Given the description of an element on the screen output the (x, y) to click on. 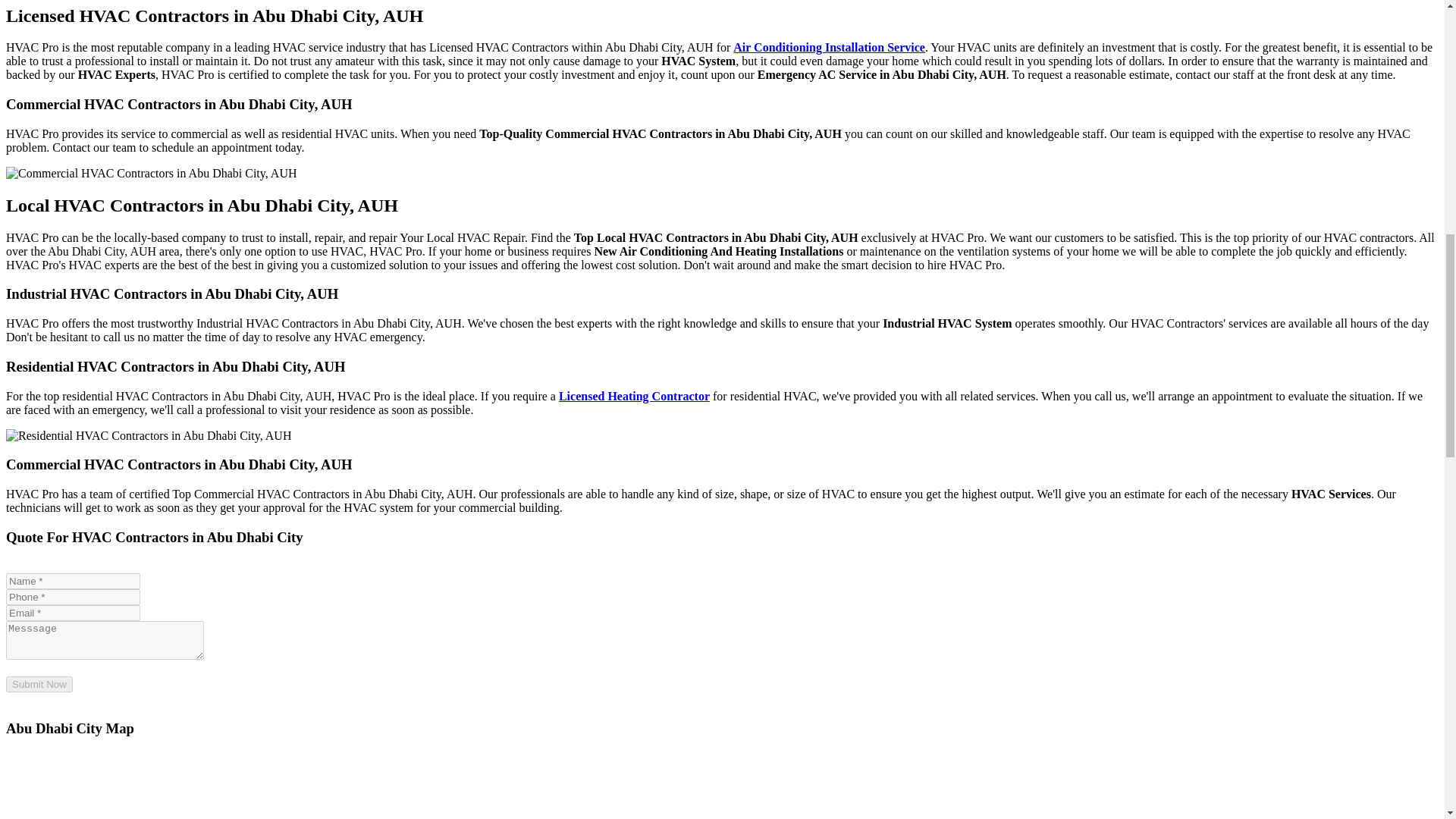
Licensed Heating Contractor (634, 395)
Submit Now (38, 684)
Air Conditioning Installation Service (828, 47)
